Given the description of an element on the screen output the (x, y) to click on. 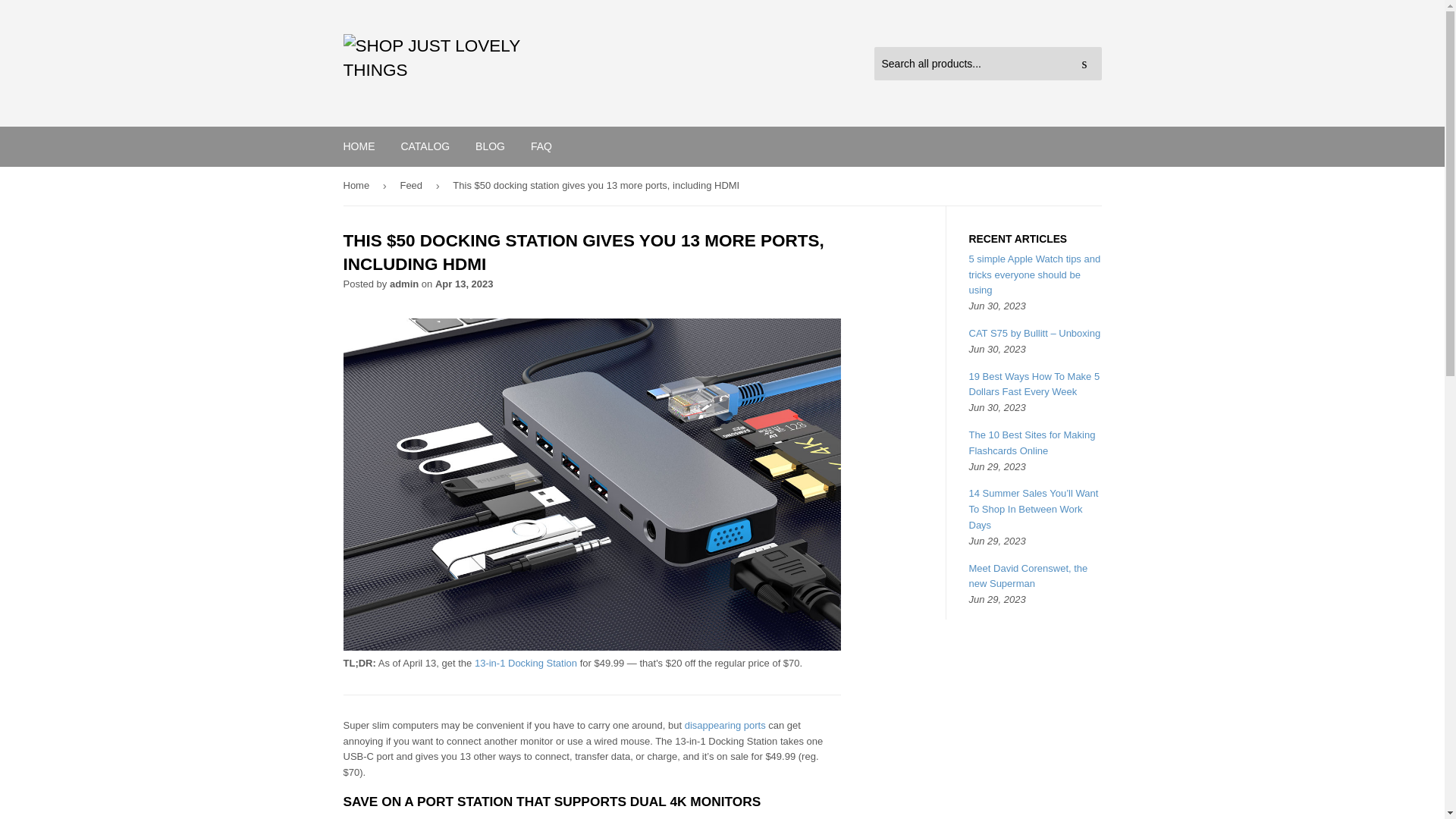
FAQ (541, 146)
13-in-1 Docking Station (525, 663)
BLOG (490, 146)
CATALOG (424, 146)
Meet David Corenswet, the new Superman (1028, 575)
HOME (359, 146)
The 10 Best Sites for Making Flashcards Online (1032, 442)
19 Best Ways How To Make 5 Dollars Fast Every Week (1034, 384)
Search (1084, 64)
disappearing ports (724, 725)
